Given the description of an element on the screen output the (x, y) to click on. 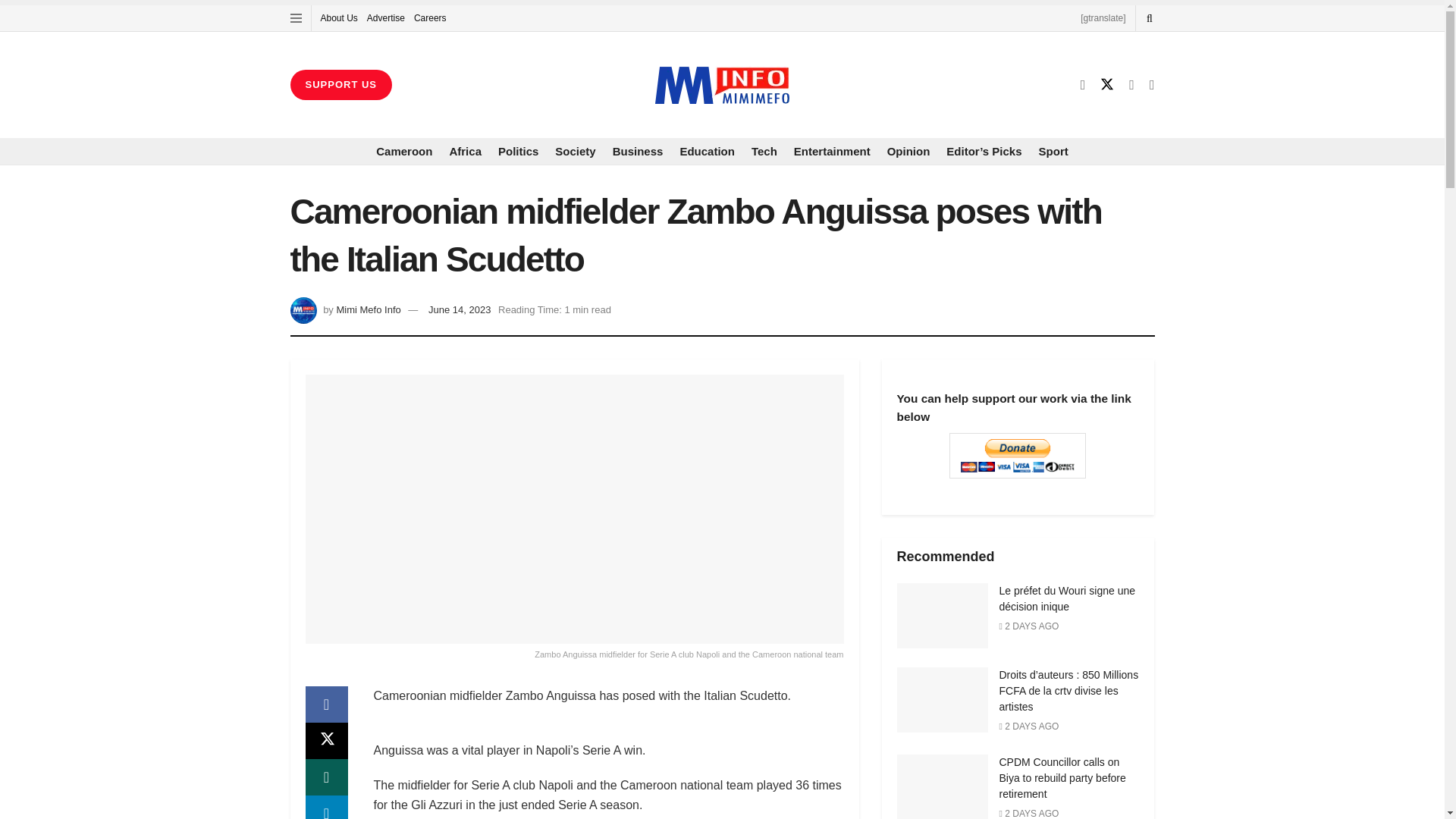
Careers (429, 17)
Africa (464, 151)
Business (637, 151)
About Us (338, 17)
Tech (764, 151)
Entertainment (831, 151)
Opinion (908, 151)
Sport (1053, 151)
Politics (517, 151)
Society (574, 151)
